Given the description of an element on the screen output the (x, y) to click on. 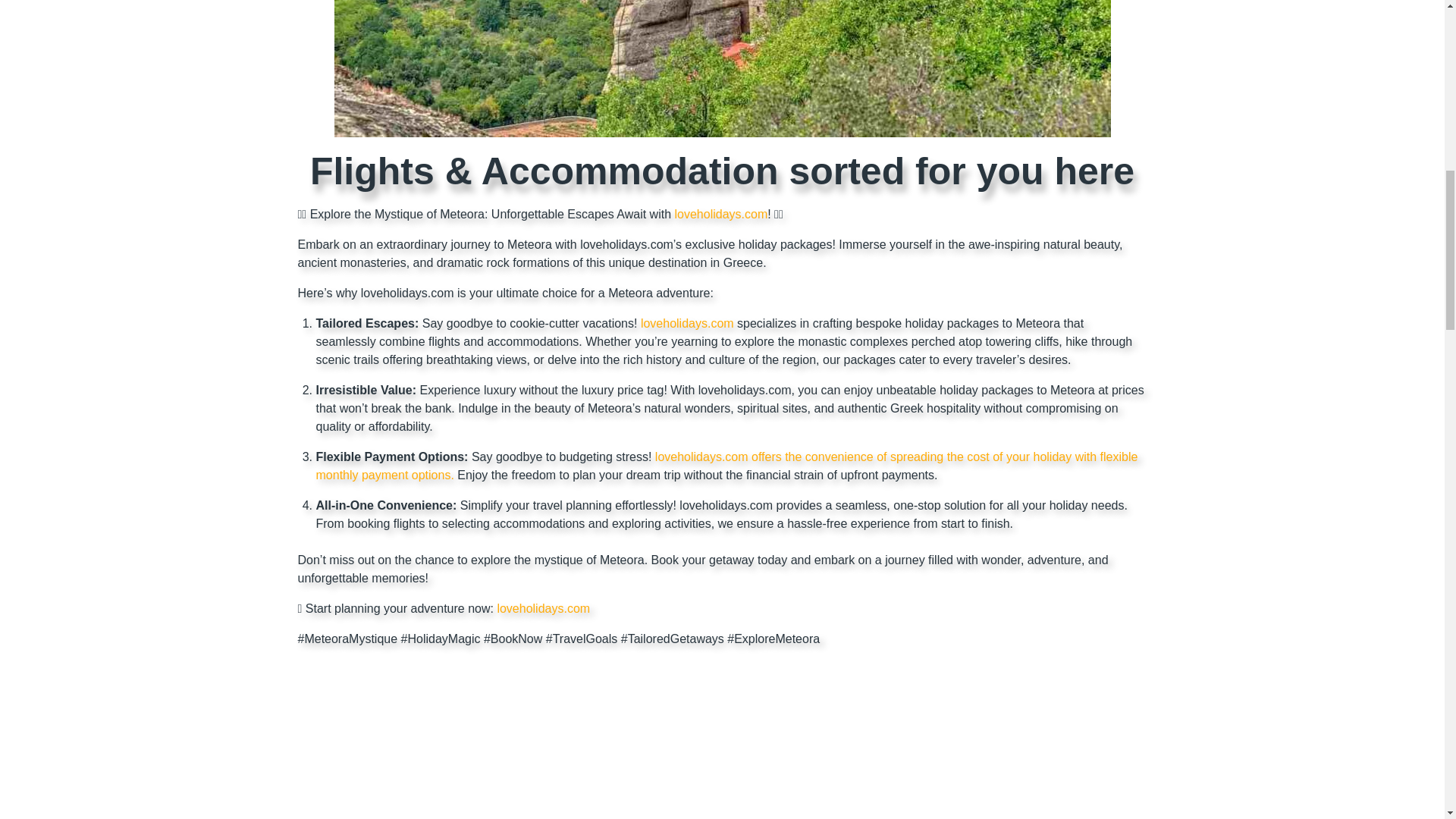
loveholidays.com (542, 608)
loveholidays.com (686, 323)
loveholidays.com (720, 214)
